Given the description of an element on the screen output the (x, y) to click on. 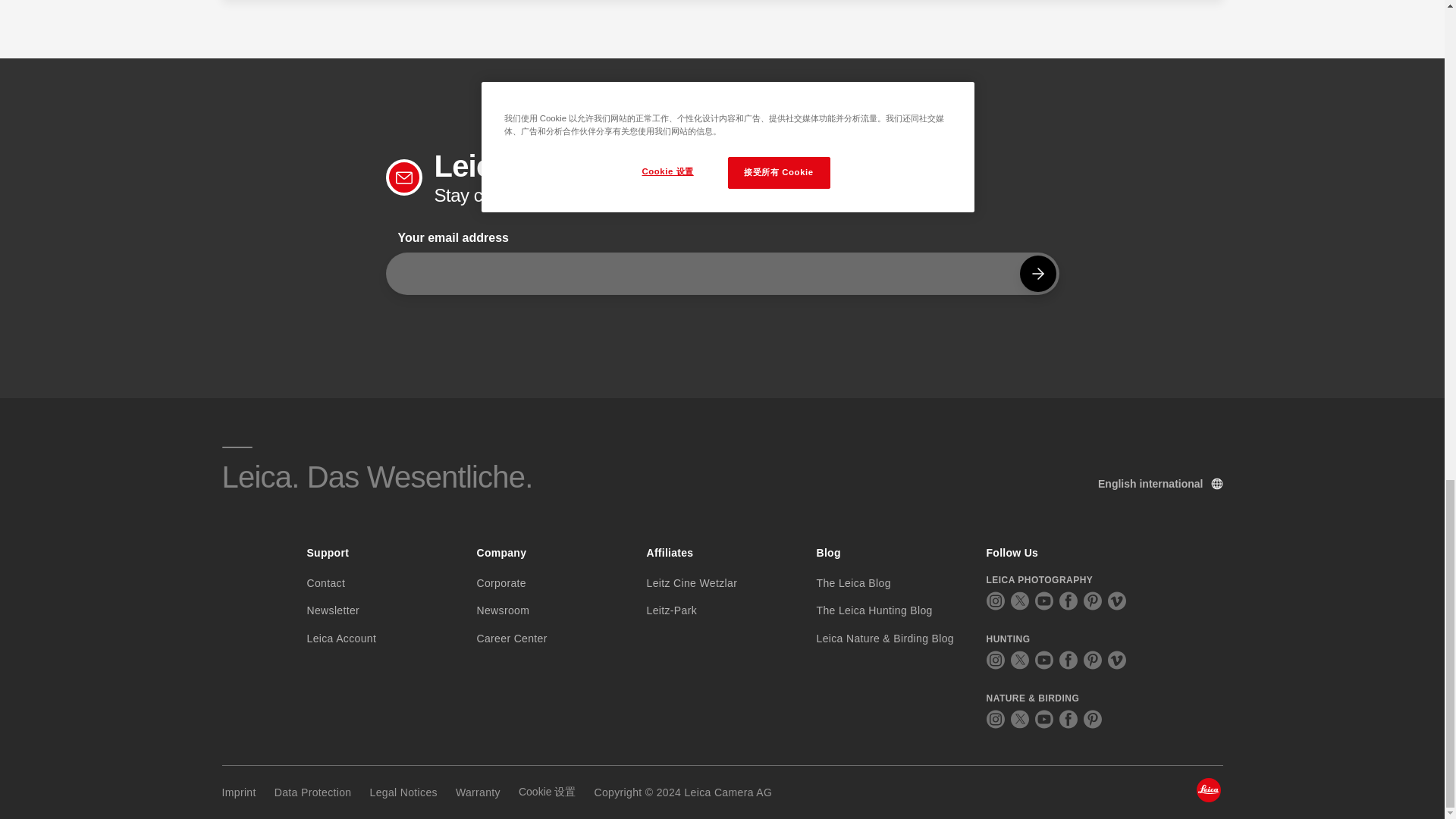
Continue your subscription to the Leica Camera newsletter (1037, 273)
Link to Cookies settings pop-up (546, 792)
